Given the description of an element on the screen output the (x, y) to click on. 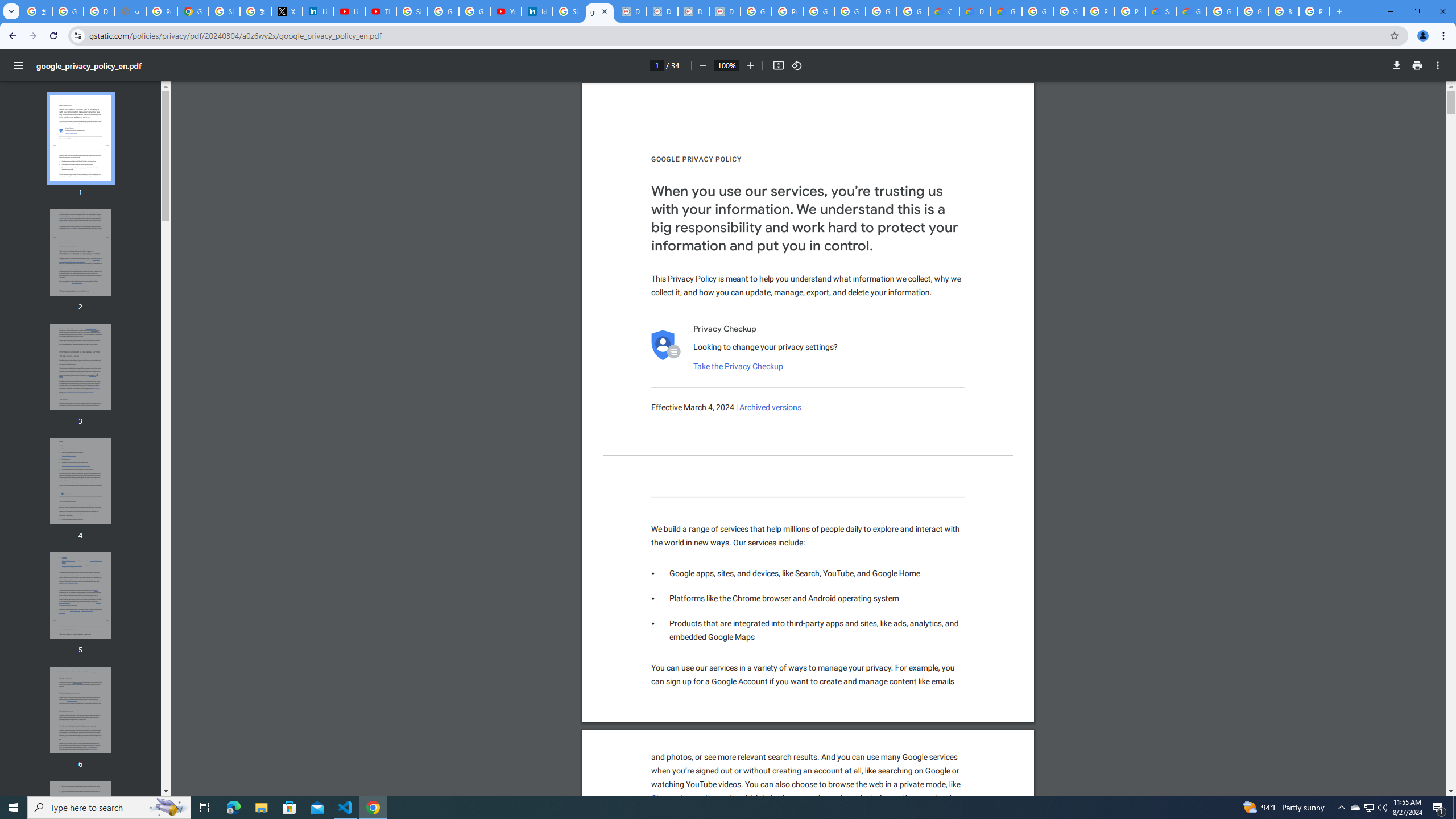
Thumbnail for page 6 (80, 709)
Zoom out (702, 65)
Thumbnail for page 5 (80, 595)
Data Privacy Framework (724, 11)
google_privacy_policy_en.pdf (599, 11)
LinkedIn Privacy Policy (318, 11)
Google Workspace - Specific Terms (881, 11)
Data Privacy Framework (693, 11)
Customer Care | Google Cloud (943, 11)
